Given the description of an element on the screen output the (x, y) to click on. 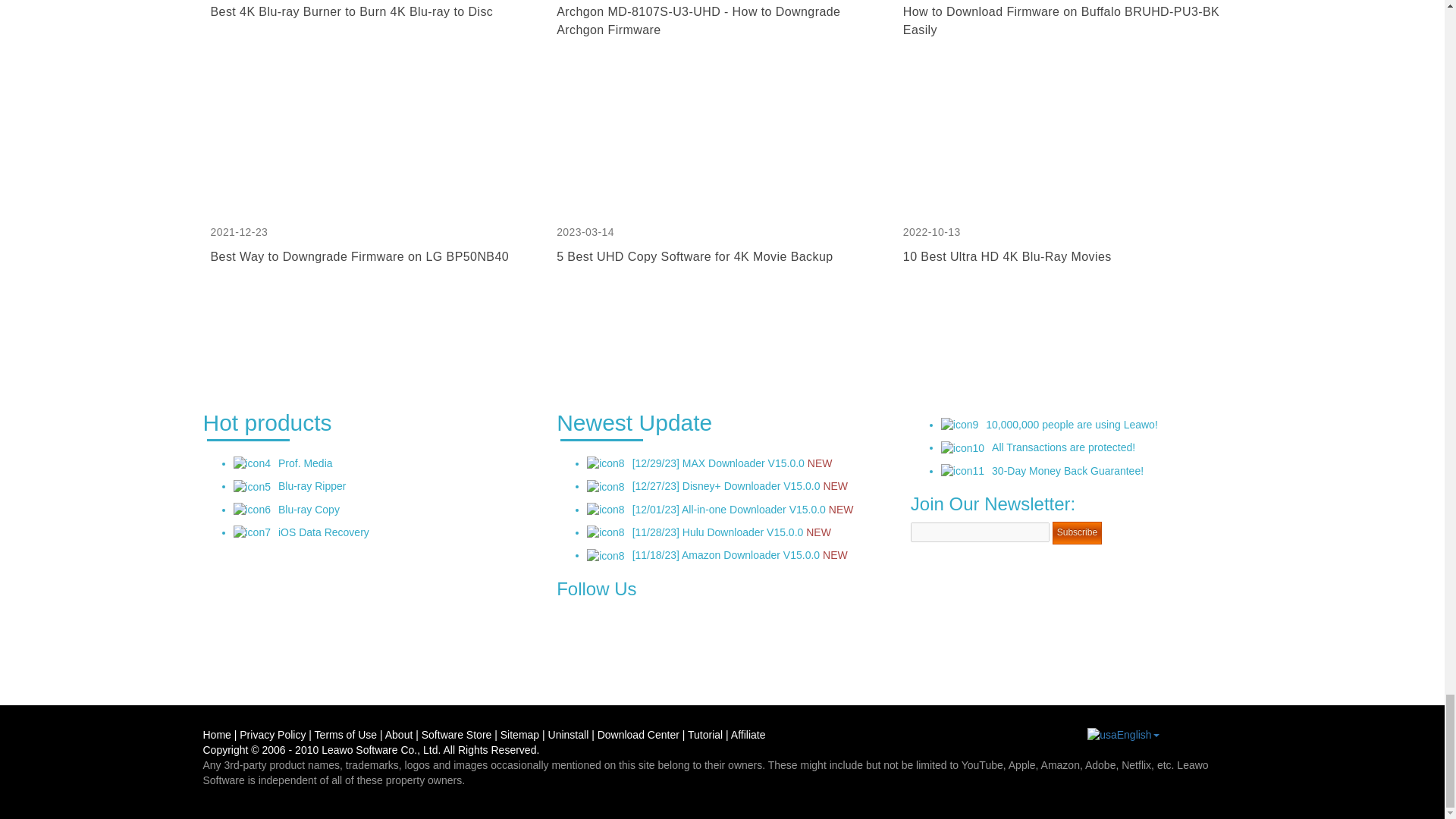
Subscribe (1077, 532)
Leawo Software (359, 749)
